Given the description of an element on the screen output the (x, y) to click on. 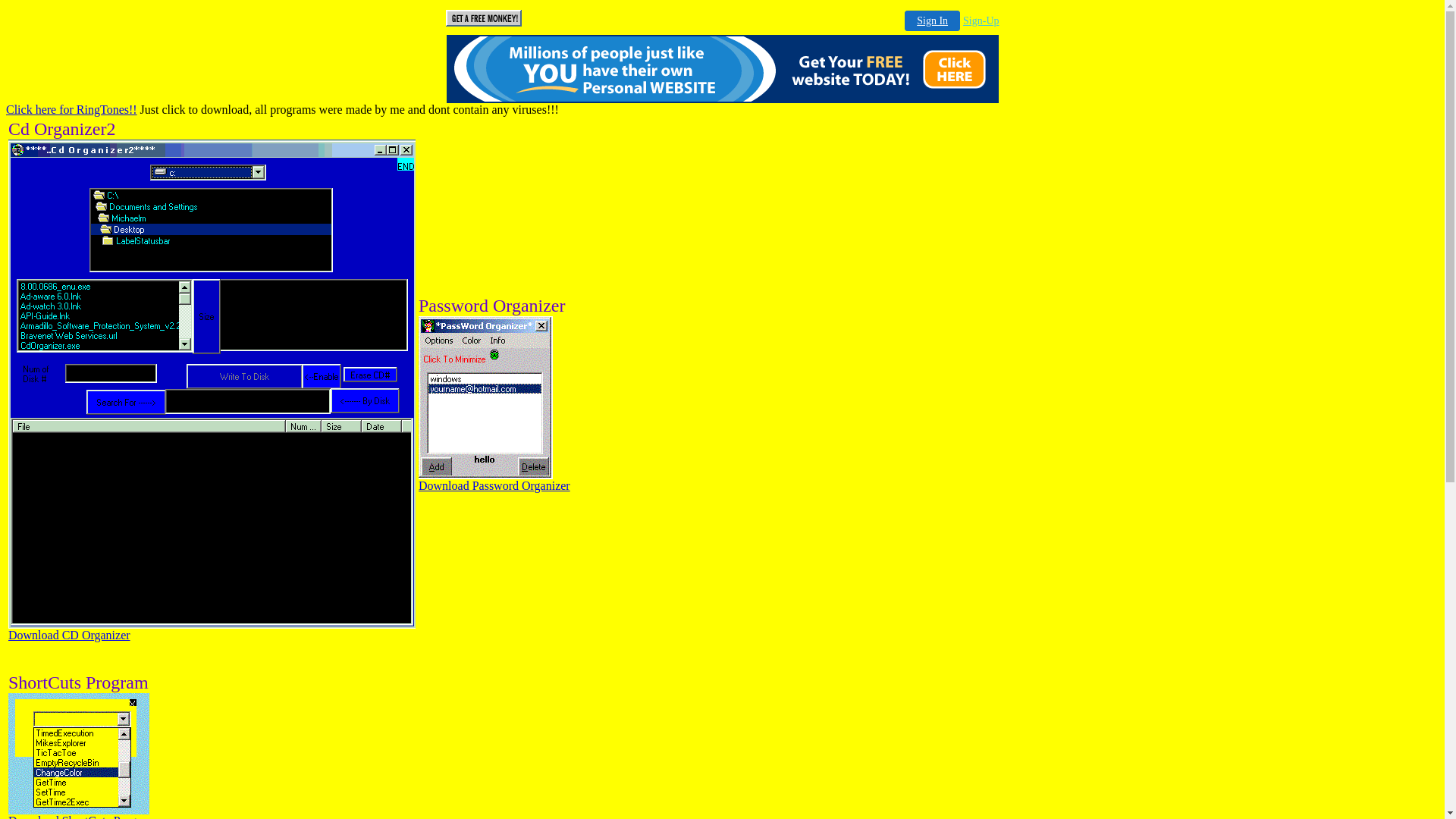
Sign-Up Element type: text (980, 20)
Download CD Organizer Element type: text (69, 634)
Download Password Organizer Element type: text (494, 485)
Sign In Element type: text (932, 20)
Click here for RingTones!! Element type: text (71, 109)
